Given the description of an element on the screen output the (x, y) to click on. 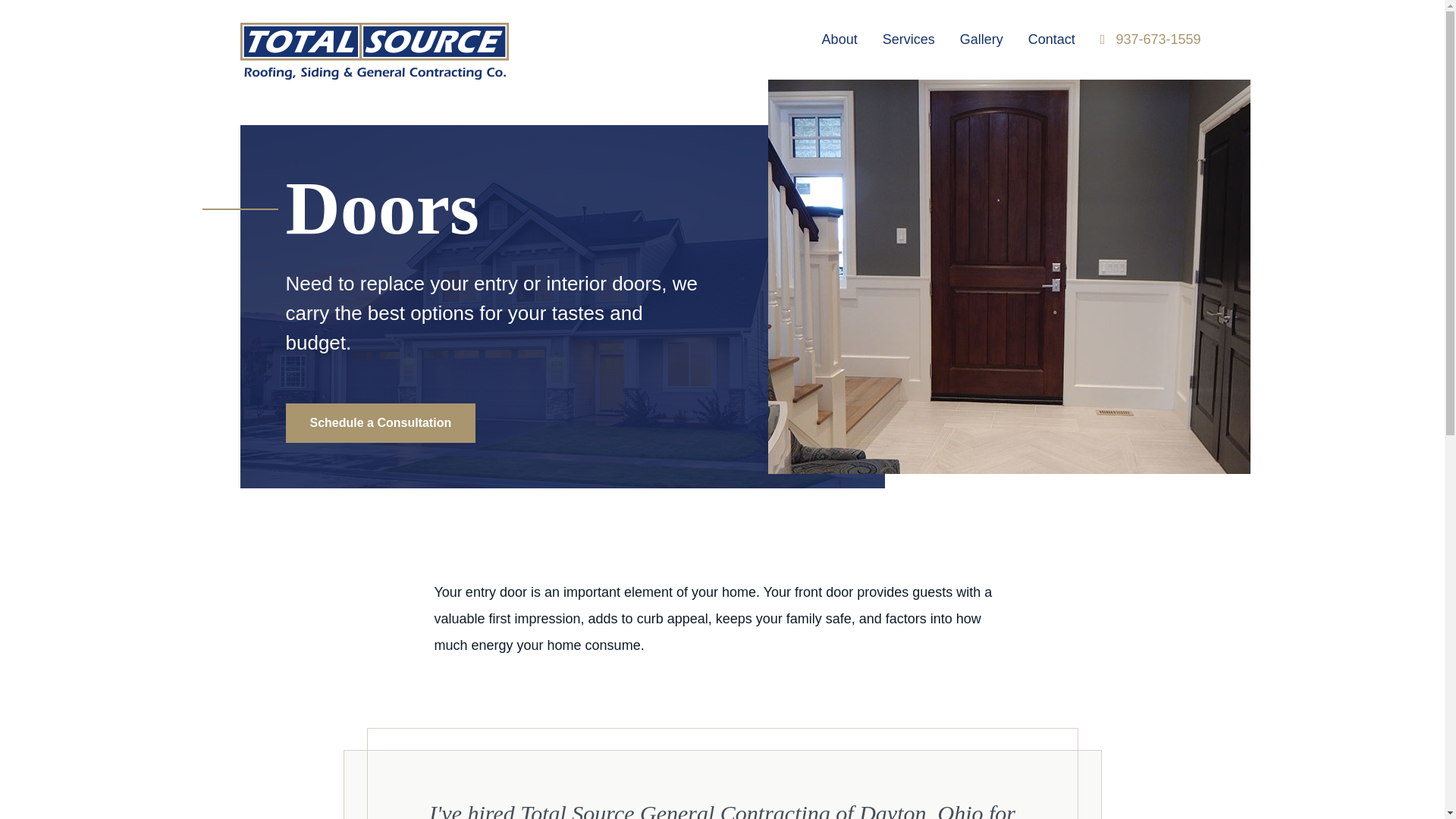
937-673-1559 (1150, 39)
About (839, 40)
Schedule a Consultation (380, 423)
Gallery (981, 40)
Services (909, 40)
Contact (1051, 40)
